Given the description of an element on the screen output the (x, y) to click on. 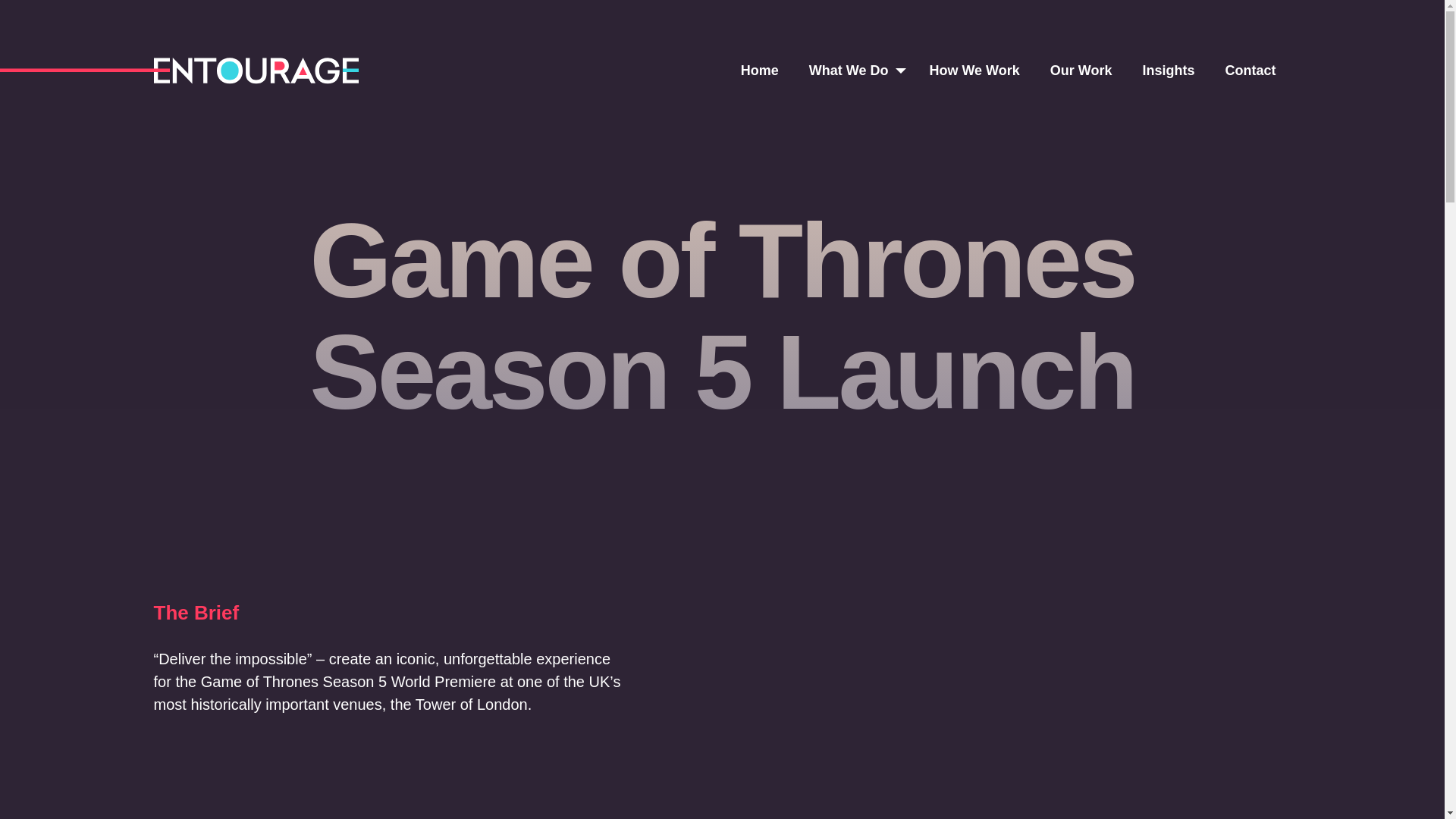
Insights (1168, 70)
What We Do (849, 70)
Home (759, 70)
Contact (1250, 70)
Our Work (1080, 70)
How We Work (973, 70)
